Given the description of an element on the screen output the (x, y) to click on. 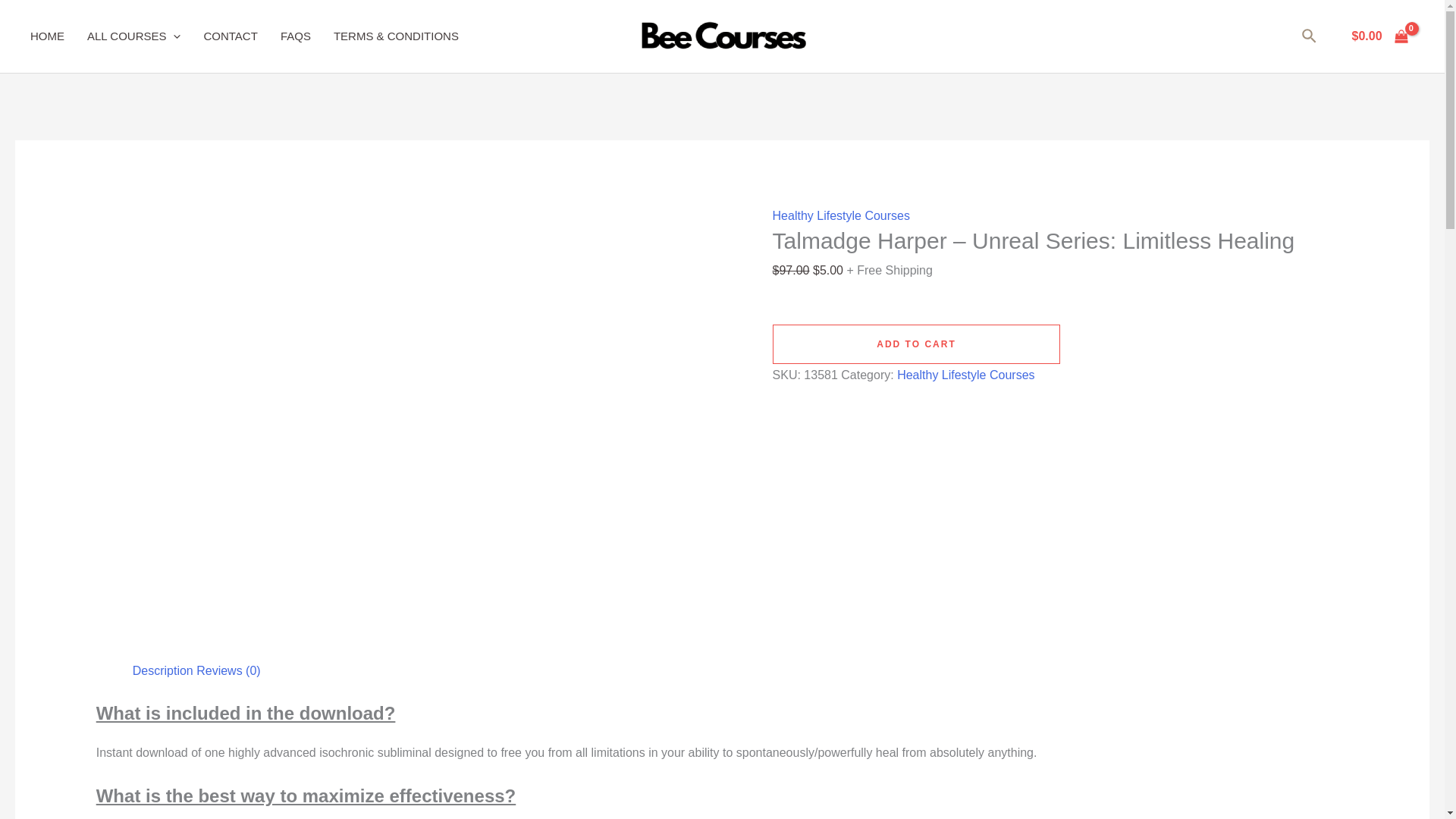
ALL COURSES (145, 36)
CONTACT (241, 36)
ADD TO CART (917, 343)
Healthy Lifestyle Courses (964, 374)
Healthy Lifestyle Courses (841, 215)
Description (162, 670)
